Given the description of an element on the screen output the (x, y) to click on. 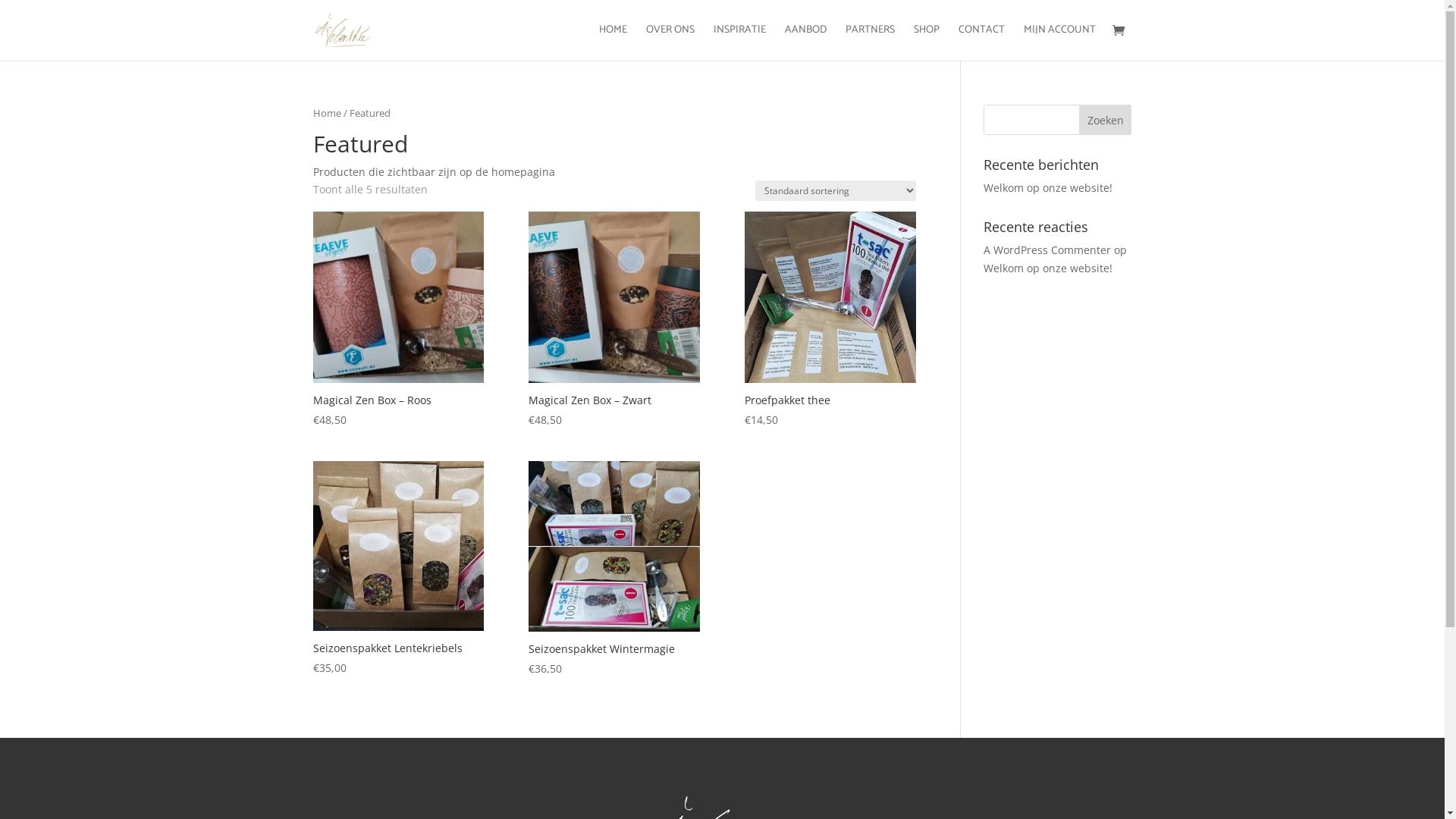
Welkom op onze website! Element type: text (1047, 187)
SHOP Element type: text (925, 42)
CONTACT Element type: text (981, 42)
MIJN ACCOUNT Element type: text (1059, 42)
Home Element type: text (326, 112)
OVER ONS Element type: text (670, 42)
Zoeken Element type: text (1105, 119)
Welkom op onze website! Element type: text (1047, 267)
A WordPress Commenter Element type: text (1046, 249)
INSPIRATIE Element type: text (738, 42)
HOME Element type: text (613, 42)
AANBOD Element type: text (804, 42)
PARTNERS Element type: text (869, 42)
